Given the description of an element on the screen output the (x, y) to click on. 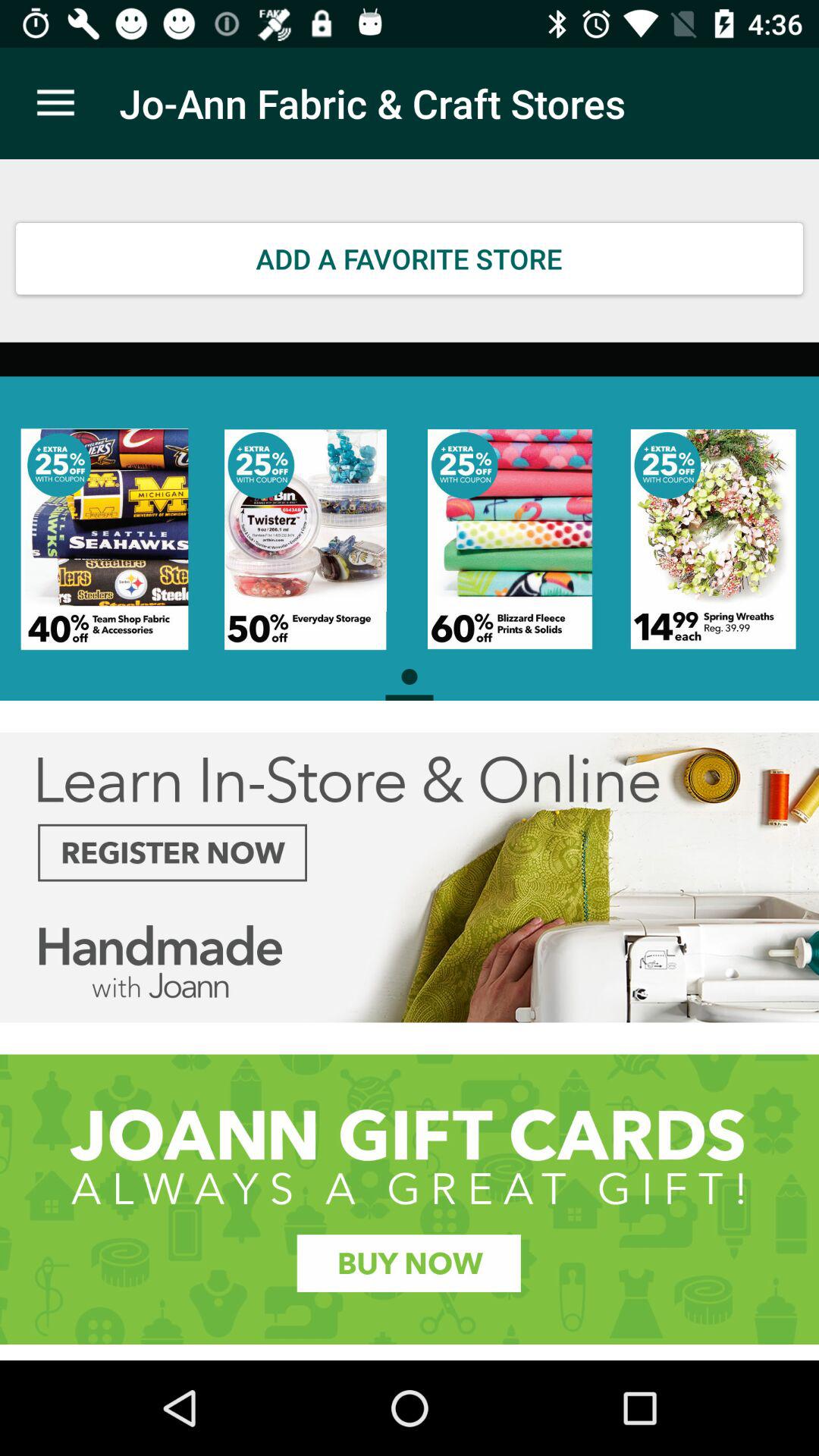
go to advertisement sponsor (409, 1199)
